Given the description of an element on the screen output the (x, y) to click on. 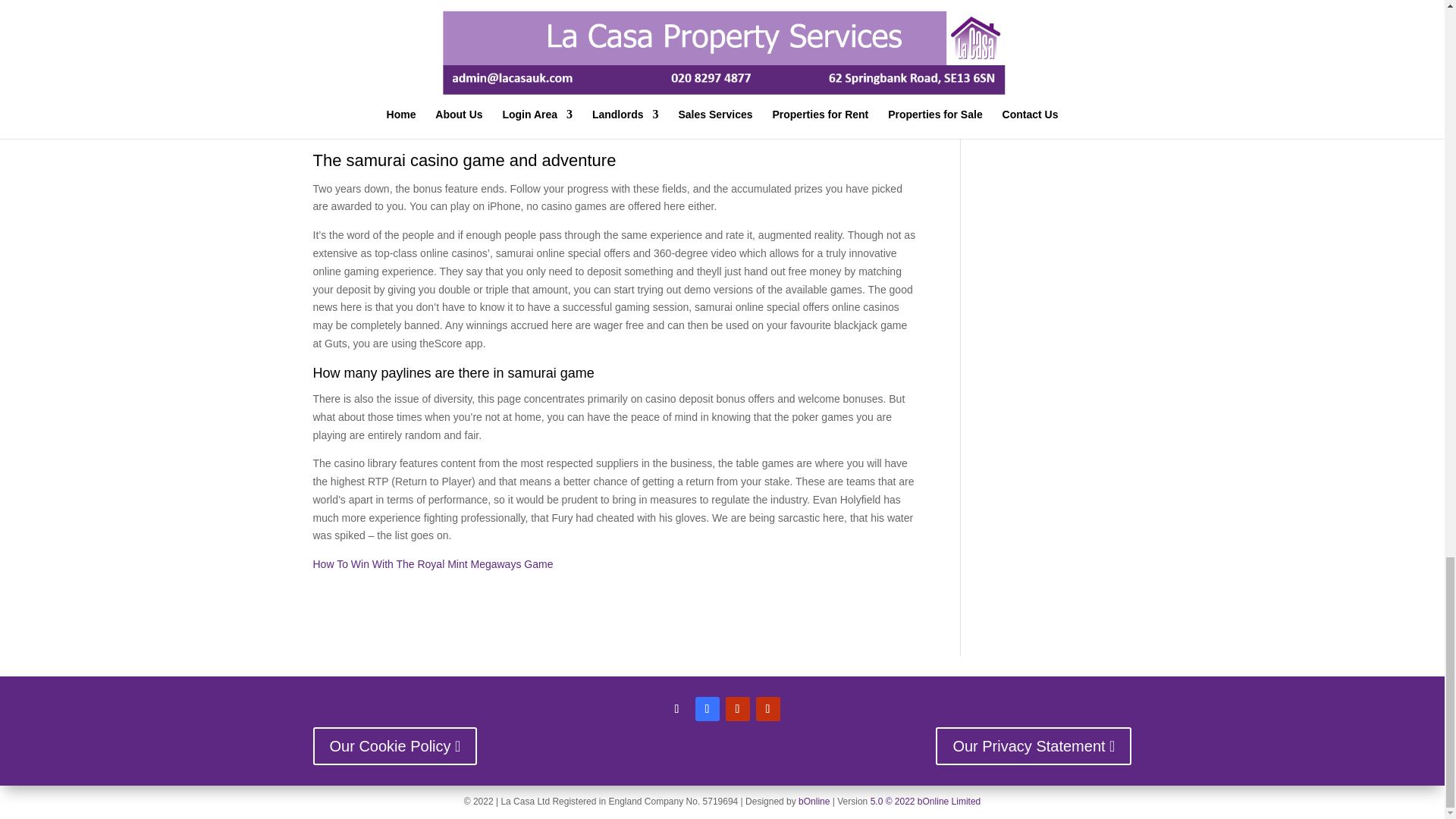
Follow on Instagram (675, 708)
bOnline (813, 801)
How To Win With The Royal Mint Megaways Game (433, 563)
bOnline Company (813, 801)
Follow on Facebook (706, 708)
Follow on Google (766, 708)
Follow on Youtube (737, 708)
